Given the description of an element on the screen output the (x, y) to click on. 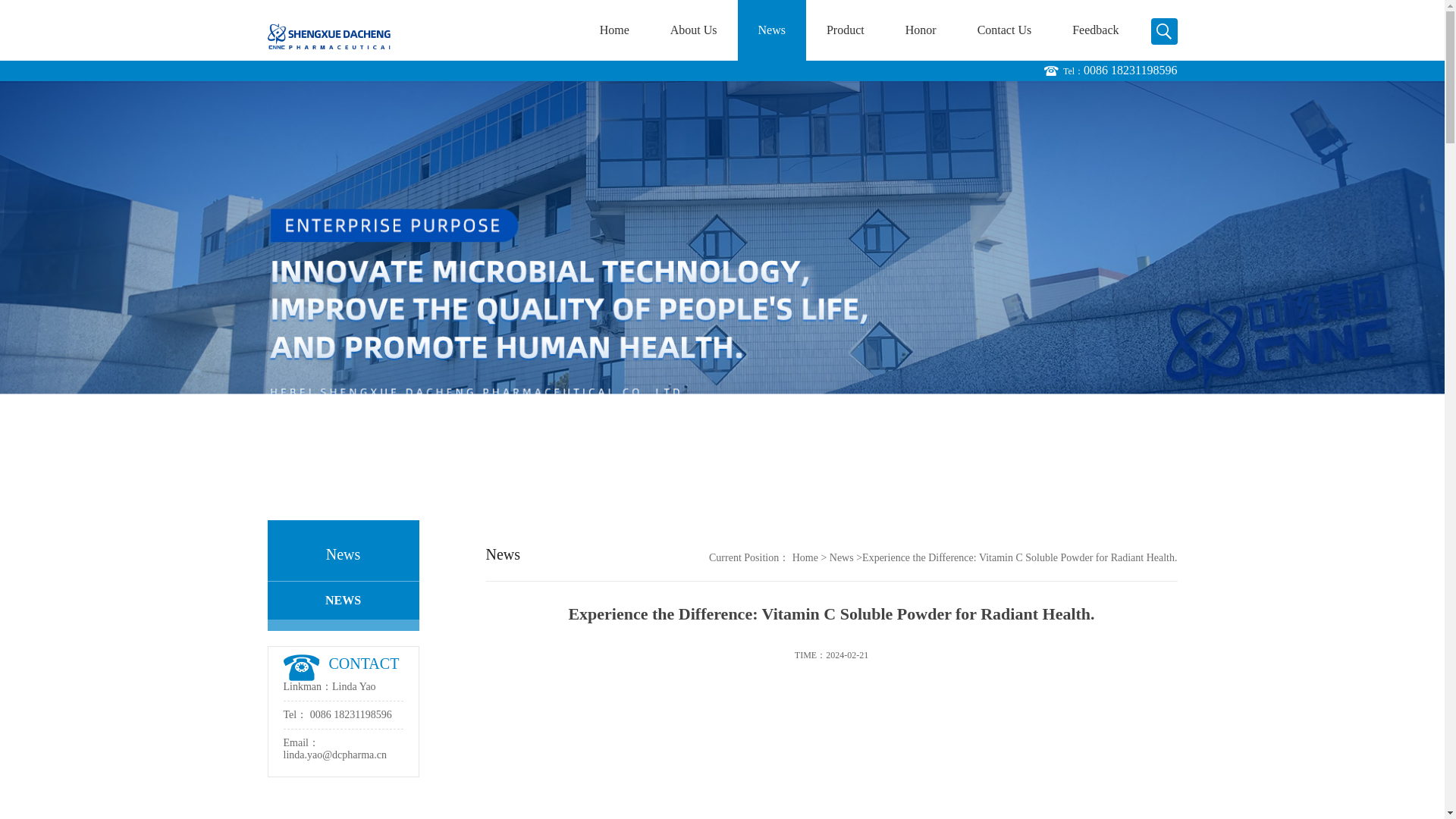
Home (614, 30)
News (772, 30)
NEWS (334, 600)
News (855, 557)
Home (805, 557)
About Us (693, 30)
Home (821, 557)
0086 18231198596 (343, 714)
Honor (920, 30)
